Given the description of an element on the screen output the (x, y) to click on. 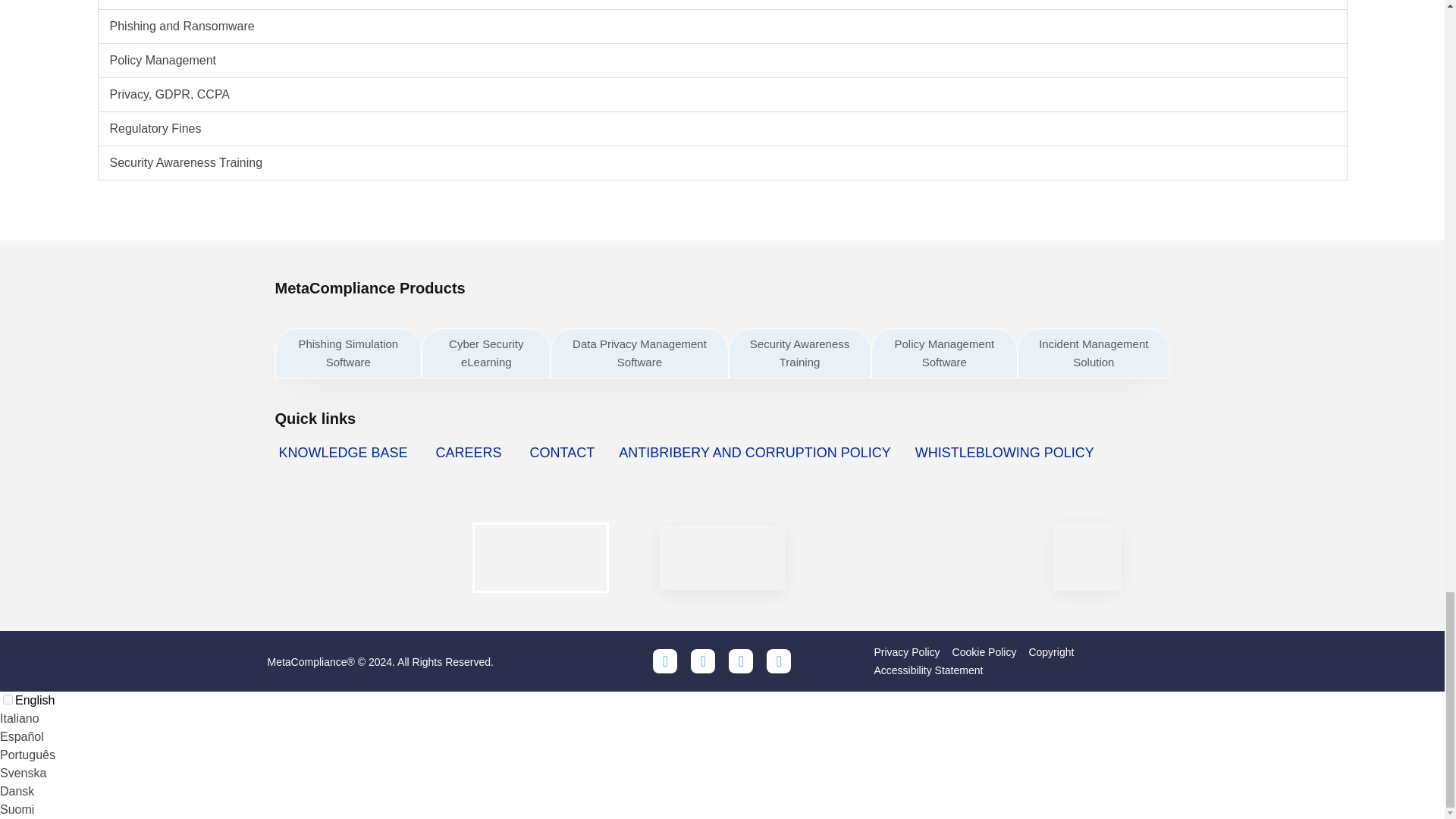
on (7, 699)
